Given the description of an element on the screen output the (x, y) to click on. 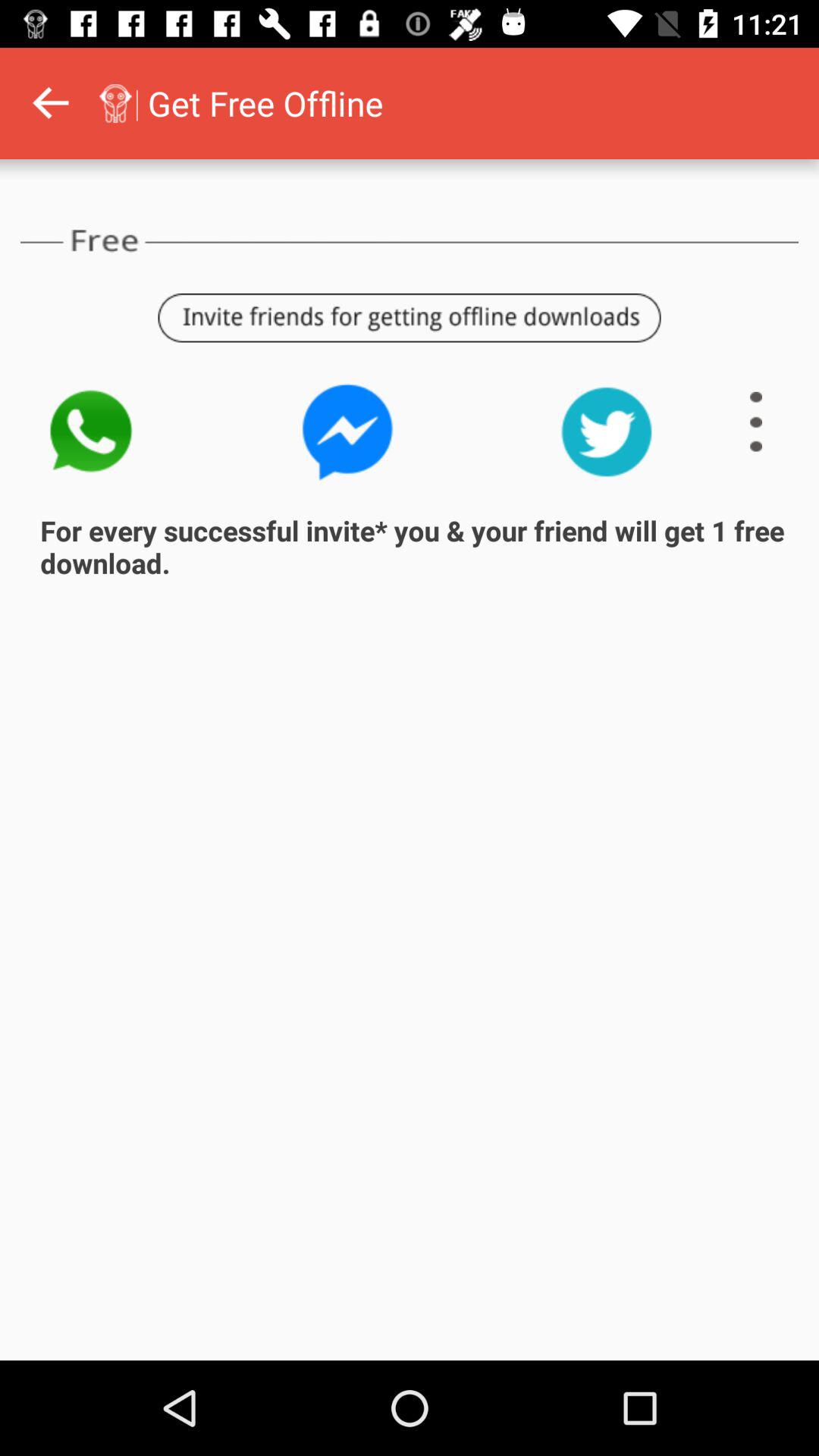
invite friends through the messenger app (348, 431)
